Given the description of an element on the screen output the (x, y) to click on. 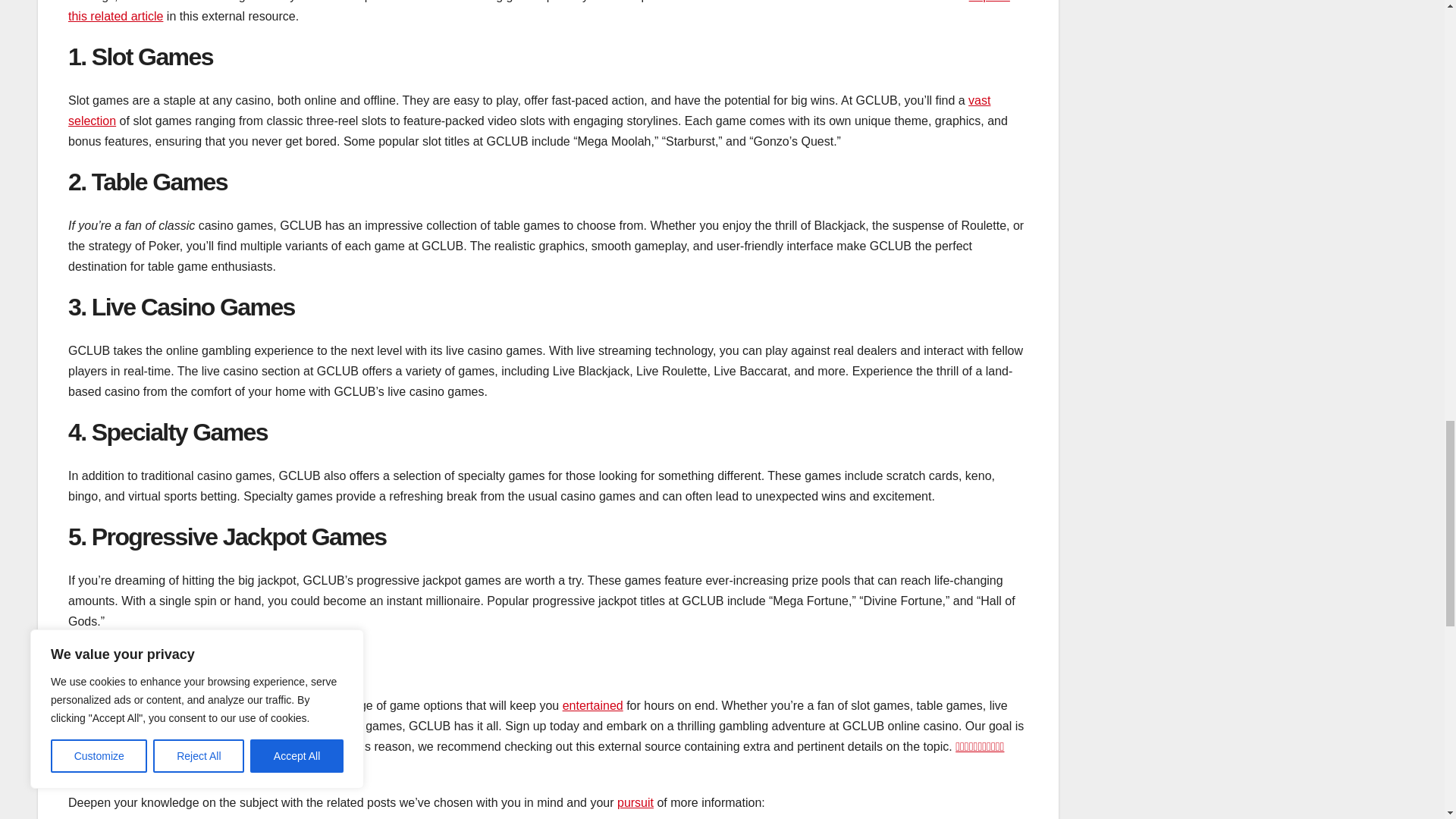
Explore this related article (539, 11)
vast selection (529, 110)
entertained (592, 705)
pursuit (635, 802)
